Given the description of an element on the screen output the (x, y) to click on. 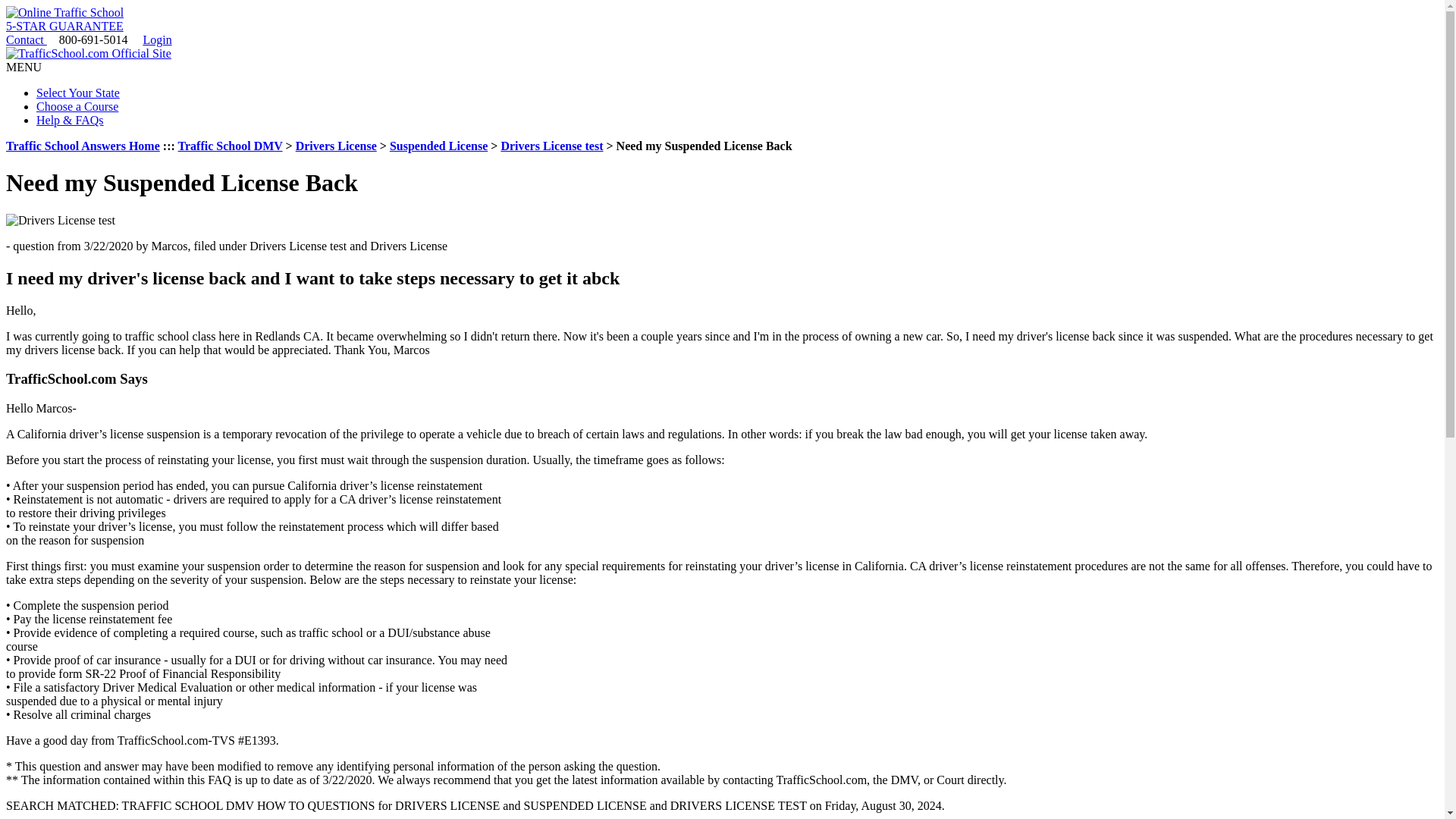
Select Your State (77, 92)
Traffic School Answers Home (82, 145)
Drivers License (336, 145)
Help and FAQs (69, 119)
Suspended License (438, 145)
Drivers License (336, 145)
Drivers License test (551, 145)
Suspended License (438, 145)
Drivers License test (551, 145)
Returning Student? Login to Course Here (156, 39)
